Given the description of an element on the screen output the (x, y) to click on. 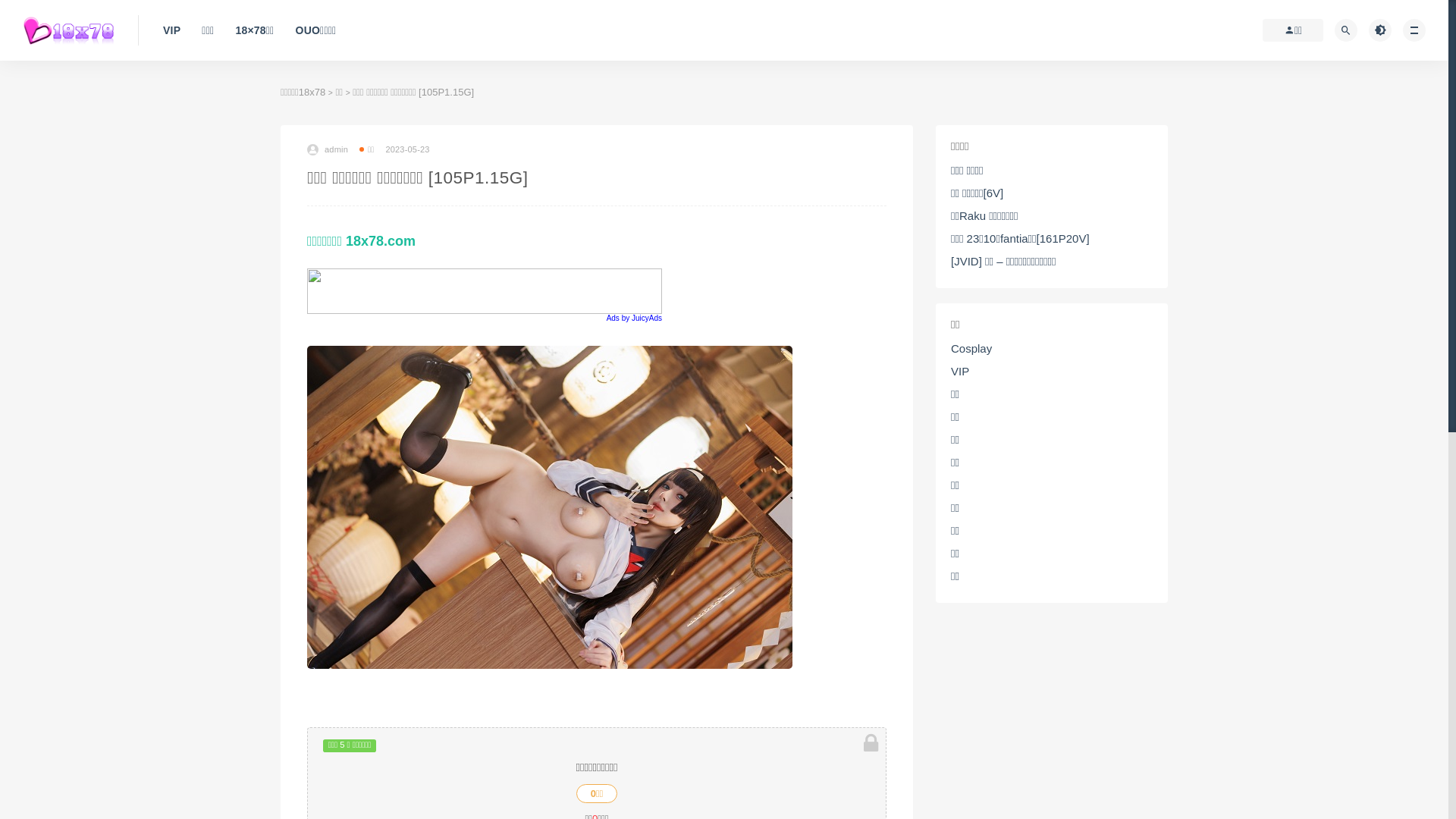
2023-05-23 Element type: text (407, 148)
admin Element type: text (327, 149)
VIP Element type: text (959, 371)
VIP Element type: text (171, 30)
18x78 Element type: text (311, 91)
Cosplay Element type: text (970, 348)
